Given the description of an element on the screen output the (x, y) to click on. 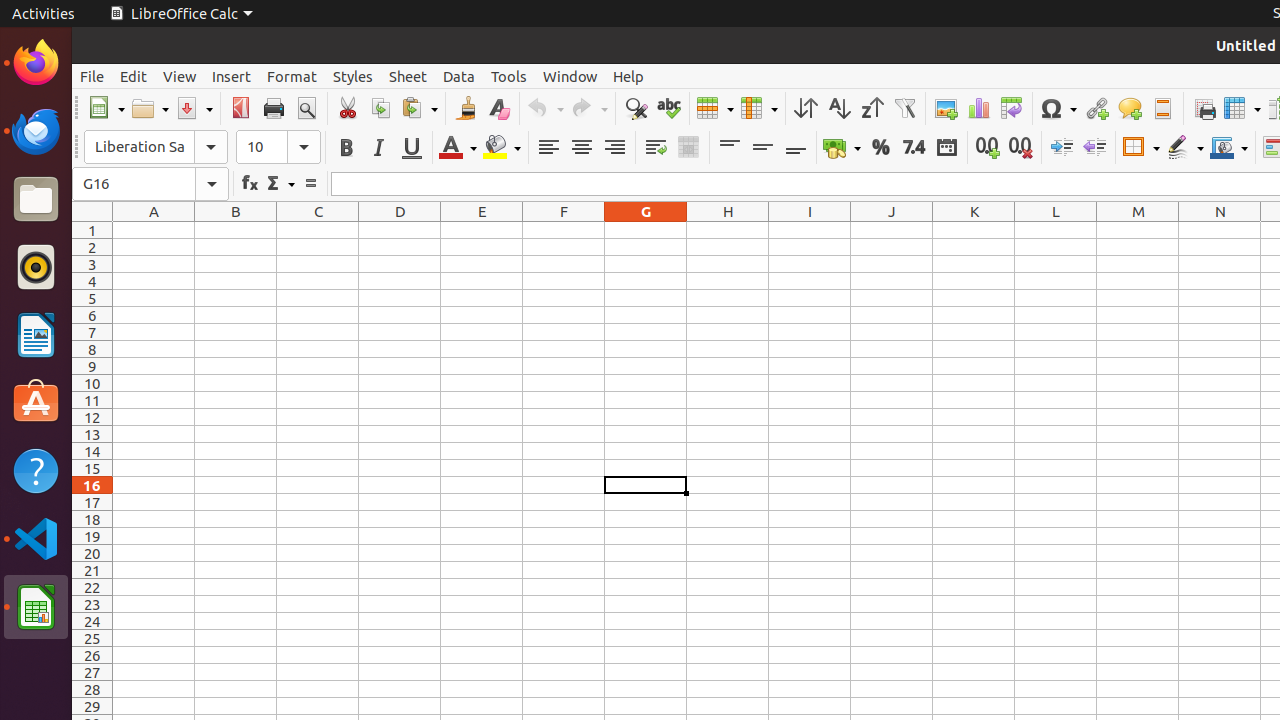
A1 Element type: table-cell (154, 230)
Undo Element type: push-button (545, 108)
Print Area Element type: push-button (1203, 108)
Font Color Element type: push-button (458, 147)
